Given the description of an element on the screen output the (x, y) to click on. 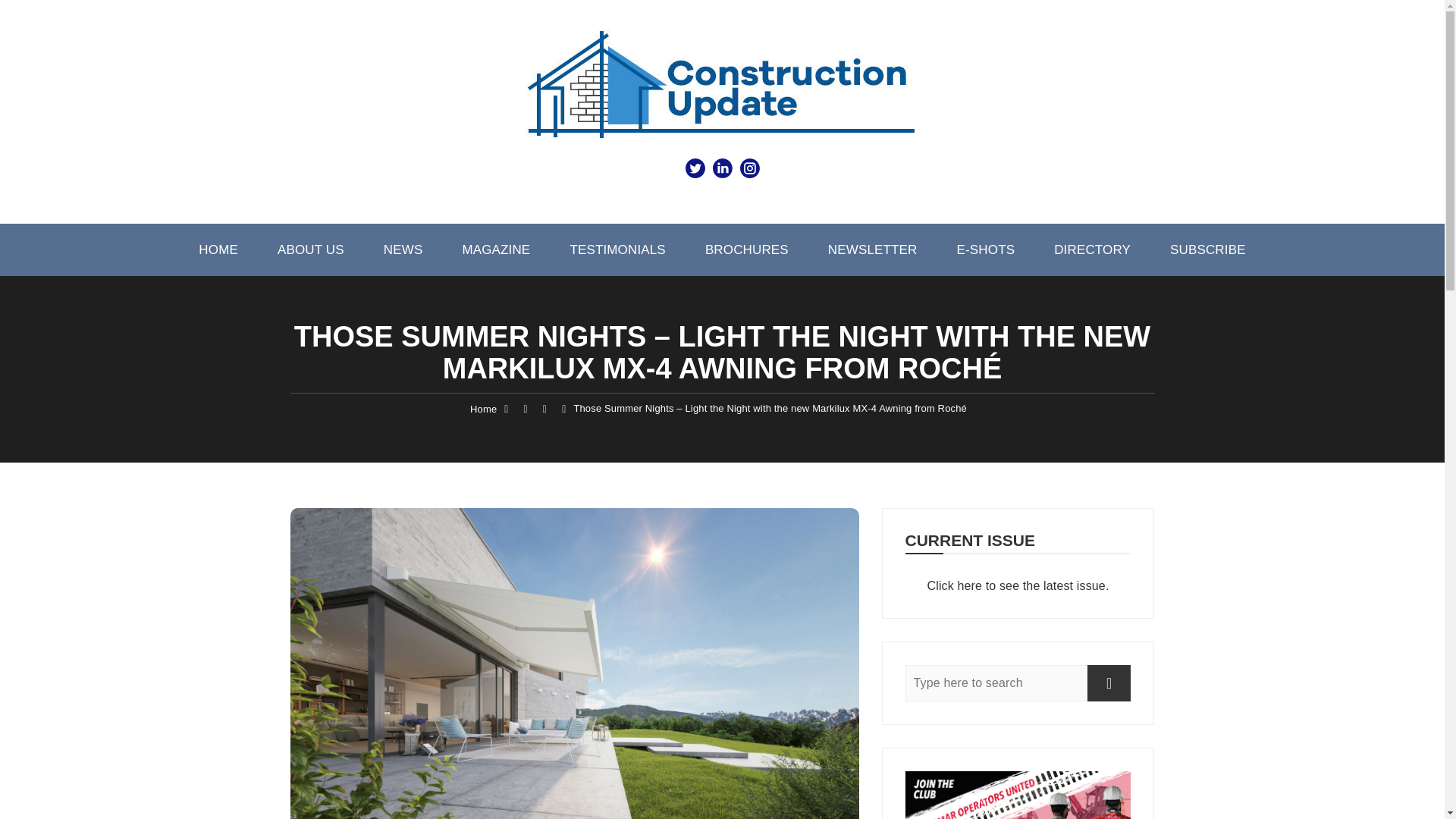
CU (722, 90)
NEWSLETTER (872, 249)
BROCHURES (746, 249)
TESTIMONIALS (617, 249)
NEWS (400, 249)
MAGAZINE (512, 249)
Instagram (748, 168)
ABOUT US (21, 249)
Twitter (694, 168)
Linkedin (721, 168)
